Given the description of an element on the screen output the (x, y) to click on. 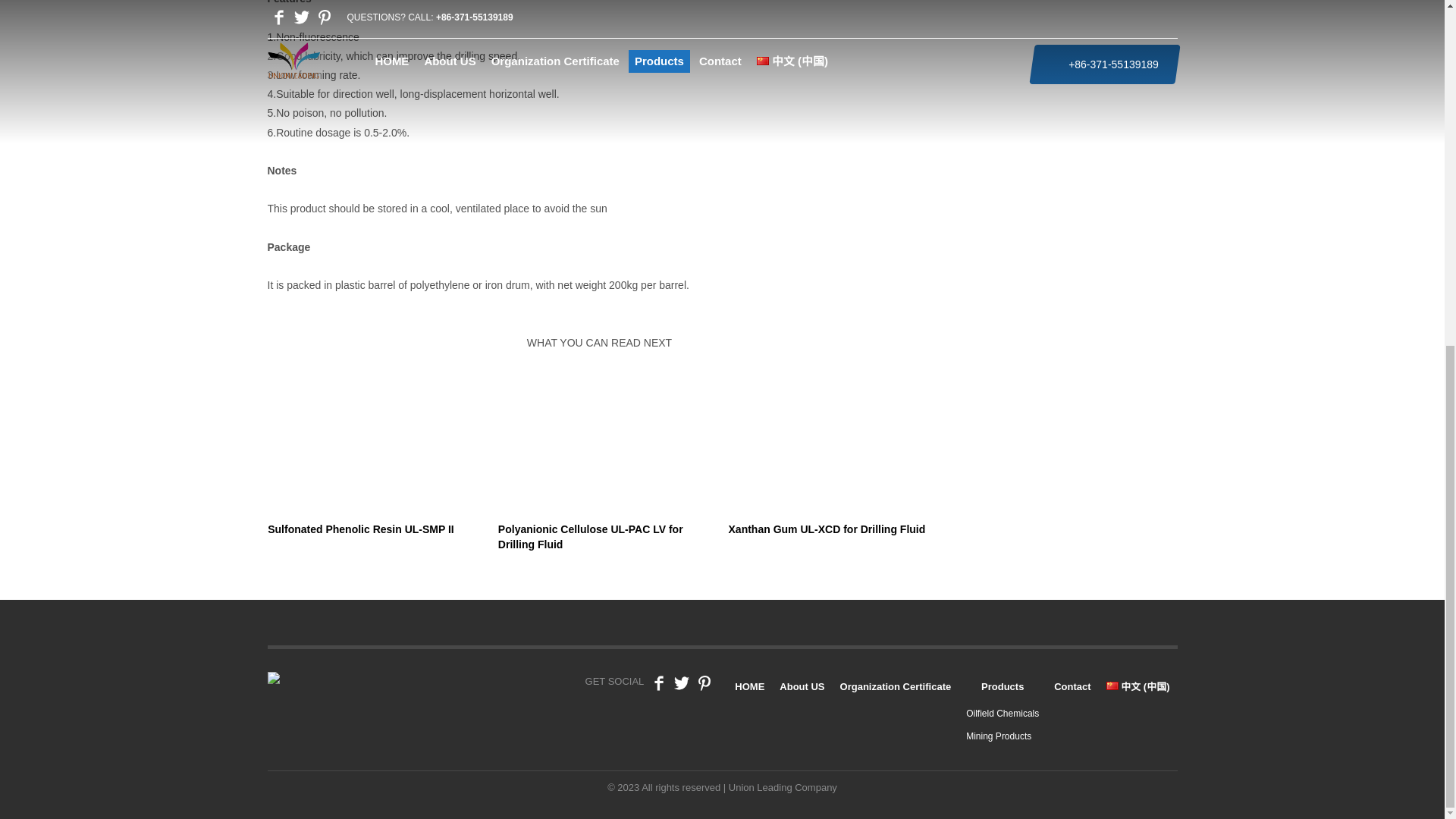
Sulfonated Phenolic Resin UL-SMP II (368, 466)
Twitter (681, 686)
Polyanionic Cellulose UL-PAC LV for Drilling Fluid (598, 474)
Xanthan Gum UL-XCD for Drilling Fluid (830, 466)
Mining Products (998, 736)
About US (801, 686)
Oilfield Chemicals (1002, 713)
Xanthan Gum UL-XCD for Drilling Fluid (830, 466)
Facebook (658, 686)
Pinterest (704, 686)
HOME (749, 686)
Organization Certificate (896, 686)
Contact (1072, 686)
Products (1002, 686)
Sulfonated Phenolic Resin UL-SMP II (368, 466)
